Given the description of an element on the screen output the (x, y) to click on. 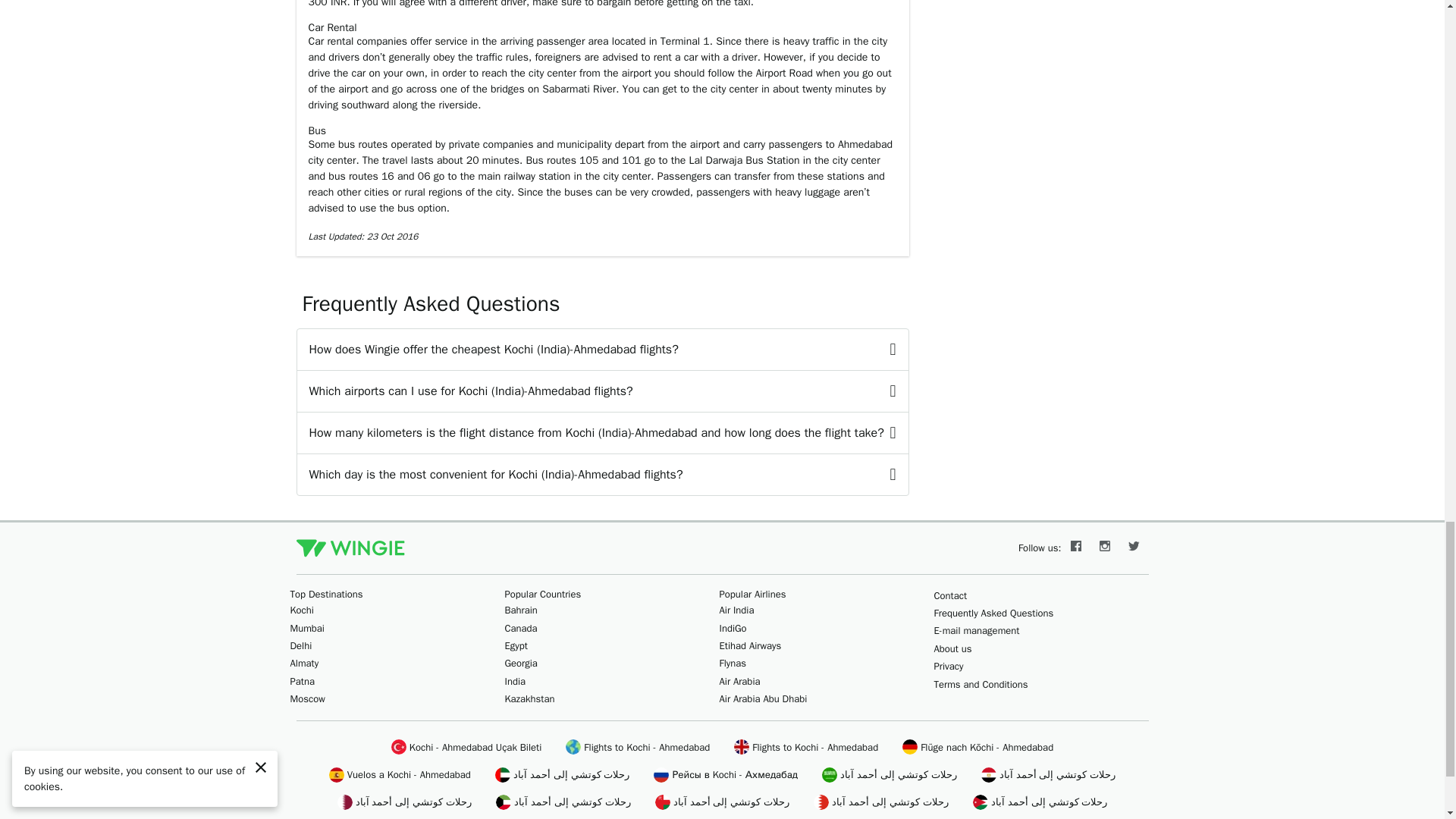
Canada (521, 627)
Twitter (1133, 547)
Kochi (301, 609)
Instagram (1104, 547)
Moscow (306, 698)
Delhi (300, 645)
Facebook (1075, 547)
Almaty (303, 662)
Popular Countries (542, 594)
Egypt (516, 645)
Bahrain (521, 609)
India (515, 680)
Mumbai (306, 627)
Georgia (521, 662)
Patna (301, 680)
